Given the description of an element on the screen output the (x, y) to click on. 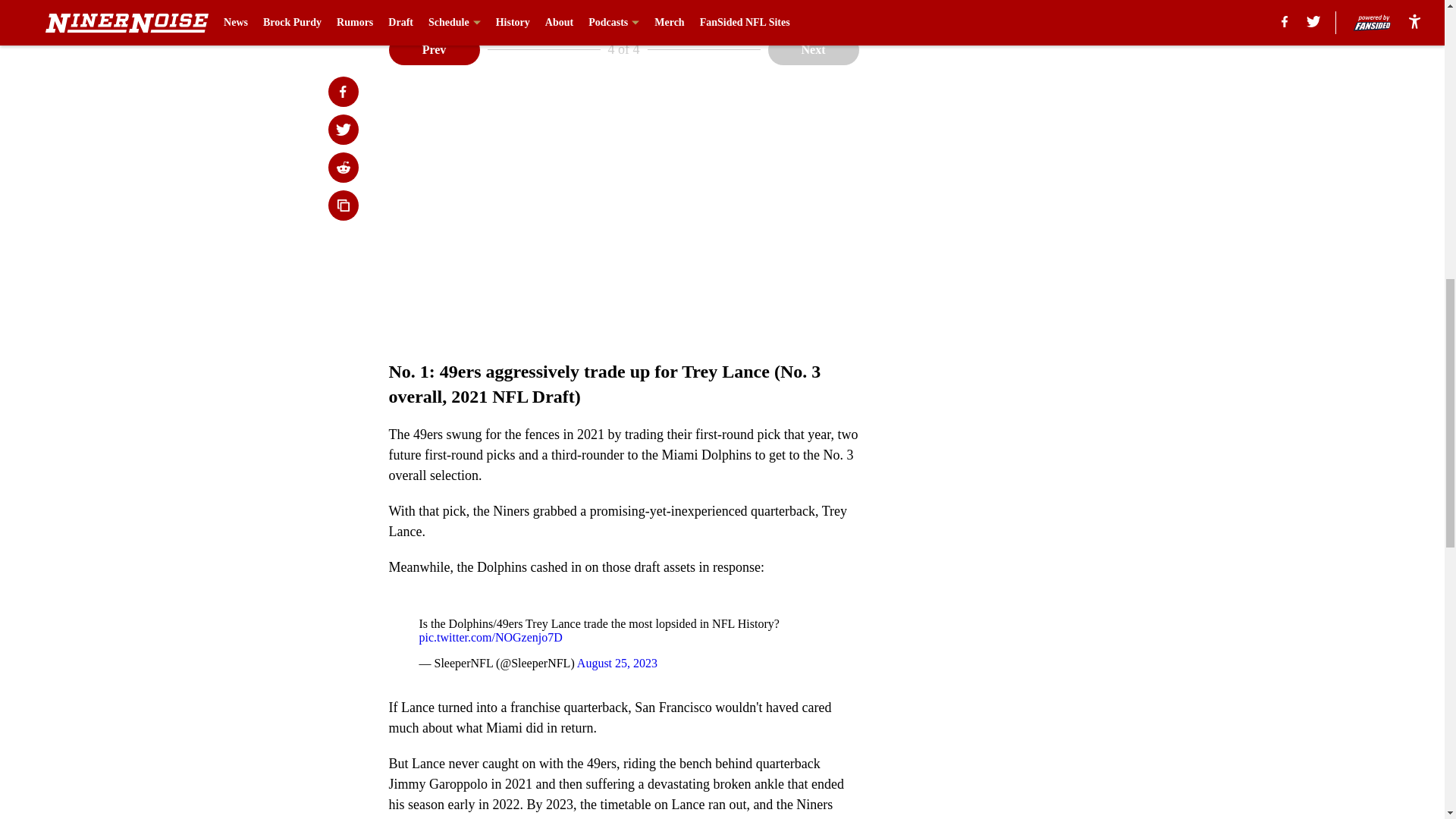
Next (813, 50)
August 25, 2023 (617, 662)
Prev (433, 50)
